Given the description of an element on the screen output the (x, y) to click on. 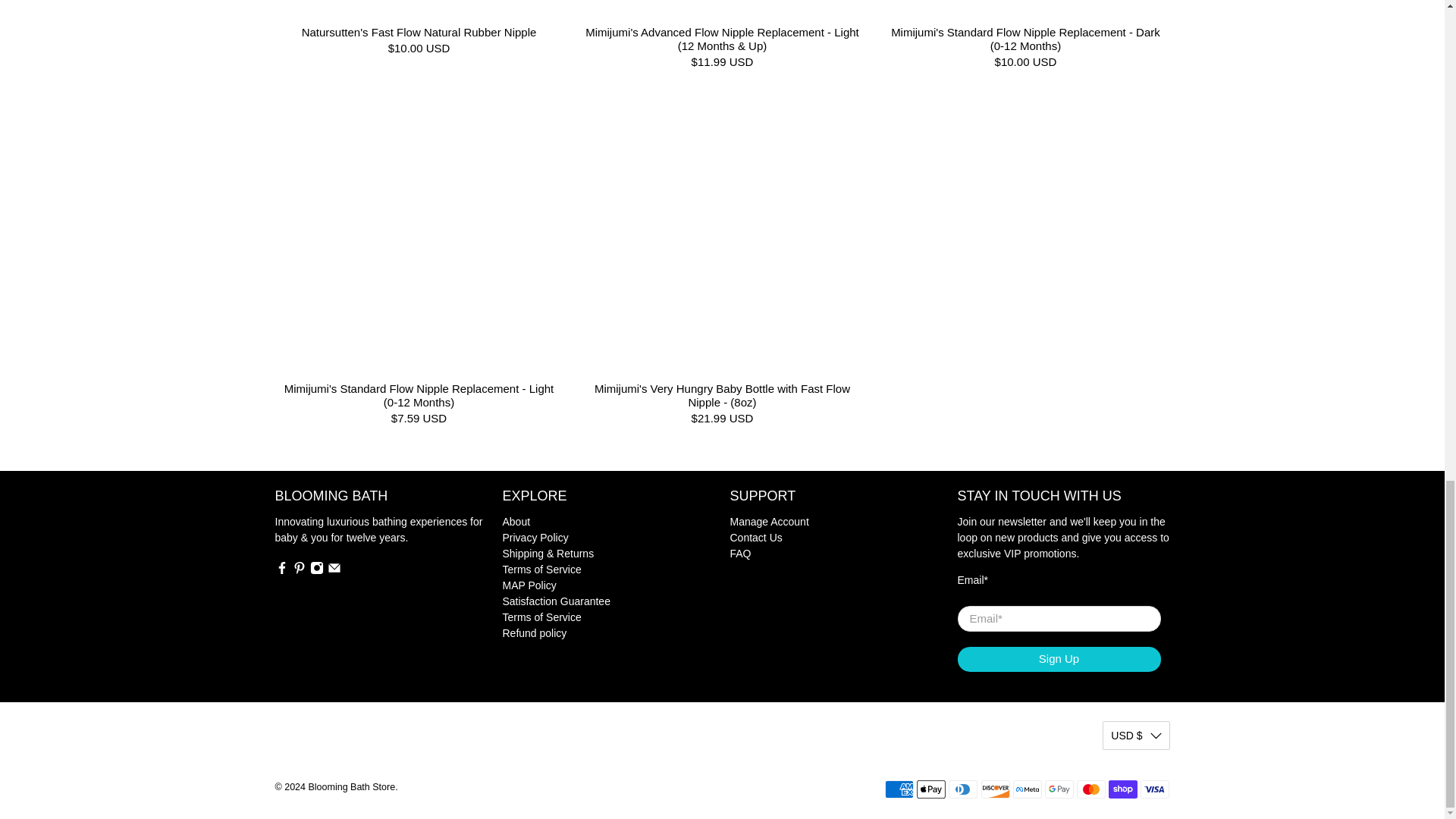
American Express (899, 789)
Discover (995, 789)
Visa (1154, 789)
Apple Pay (930, 789)
Diners Club (962, 789)
Shop Pay (1122, 789)
Blooming Bath Store on Instagram (315, 571)
Google Pay (1059, 789)
Email Blooming Bath Store (333, 571)
Blooming Bath Store on Pinterest (298, 571)
Meta Pay (1027, 789)
Blooming Bath Store on Facebook (281, 571)
Mastercard (1091, 789)
